Given the description of an element on the screen output the (x, y) to click on. 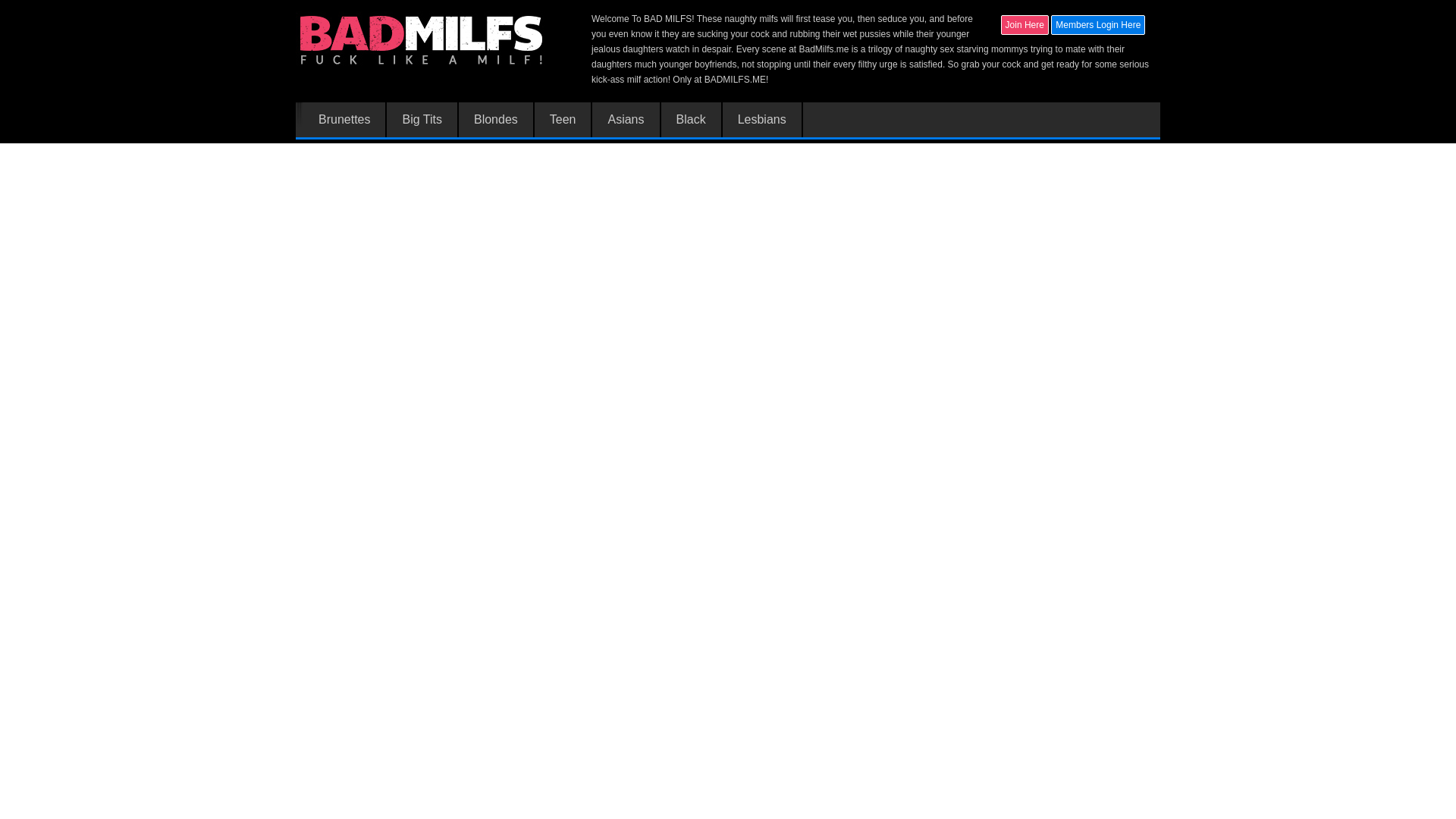
Join Here (1024, 23)
Join Here (1024, 25)
Teen (563, 119)
Black (691, 119)
Lesbians (762, 119)
Big Tits (421, 119)
Blondes (496, 119)
Asians (625, 119)
Members Login Here (1097, 25)
Home (422, 40)
Brunettes (343, 119)
Members Login Here (1097, 23)
